Given the description of an element on the screen output the (x, y) to click on. 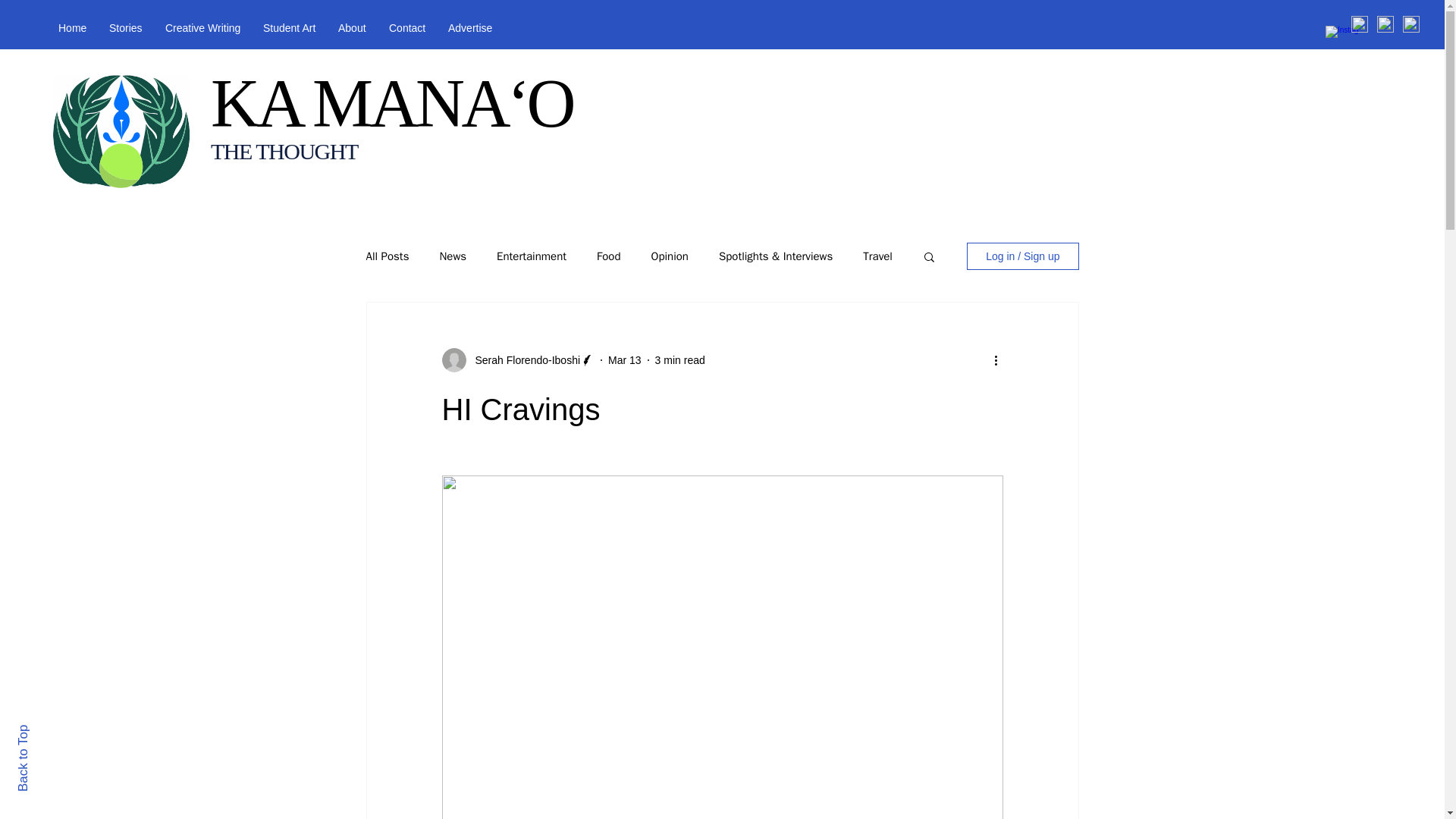
About (351, 27)
Contact (406, 27)
Mar 13 (625, 358)
Stories (125, 27)
Creative Writing (202, 27)
Opinion (668, 255)
Home (71, 27)
Advertise (469, 27)
Food (608, 255)
All Posts (387, 255)
Travel (877, 255)
Serah Florendo-Iboshi (522, 359)
News (452, 255)
Entertainment (531, 255)
THE THOUGHT (284, 150)
